Given the description of an element on the screen output the (x, y) to click on. 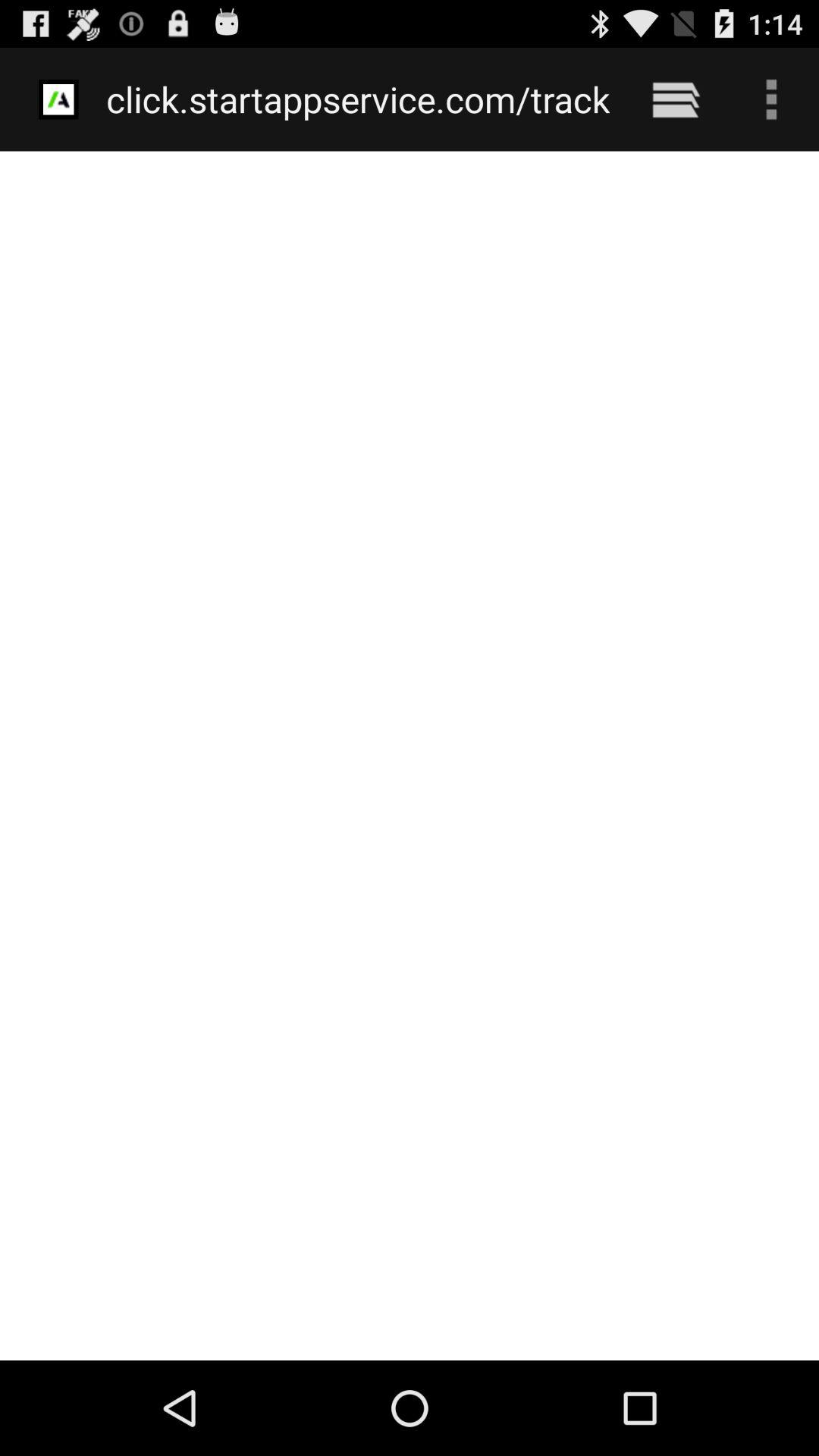
select icon to the right of the click startappservice com item (675, 99)
